Given the description of an element on the screen output the (x, y) to click on. 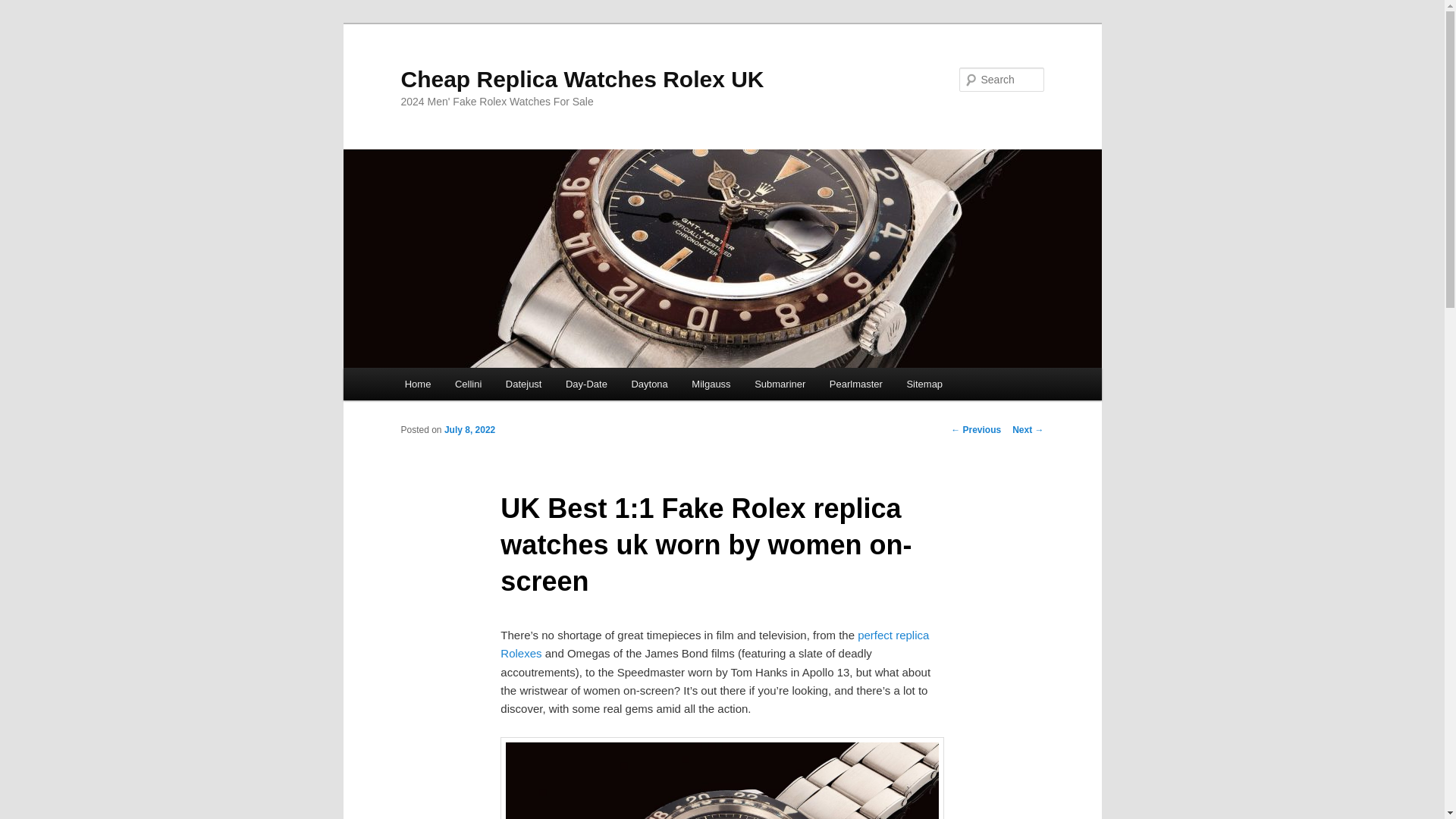
Datejust (523, 383)
Cellini (467, 383)
Cheap Replica Watches Rolex UK (581, 78)
Day-Date (585, 383)
Search (24, 8)
Milgauss (710, 383)
July 8, 2022 (469, 429)
Pearlmaster (855, 383)
perfect replica Rolexes (714, 644)
